Given the description of an element on the screen output the (x, y) to click on. 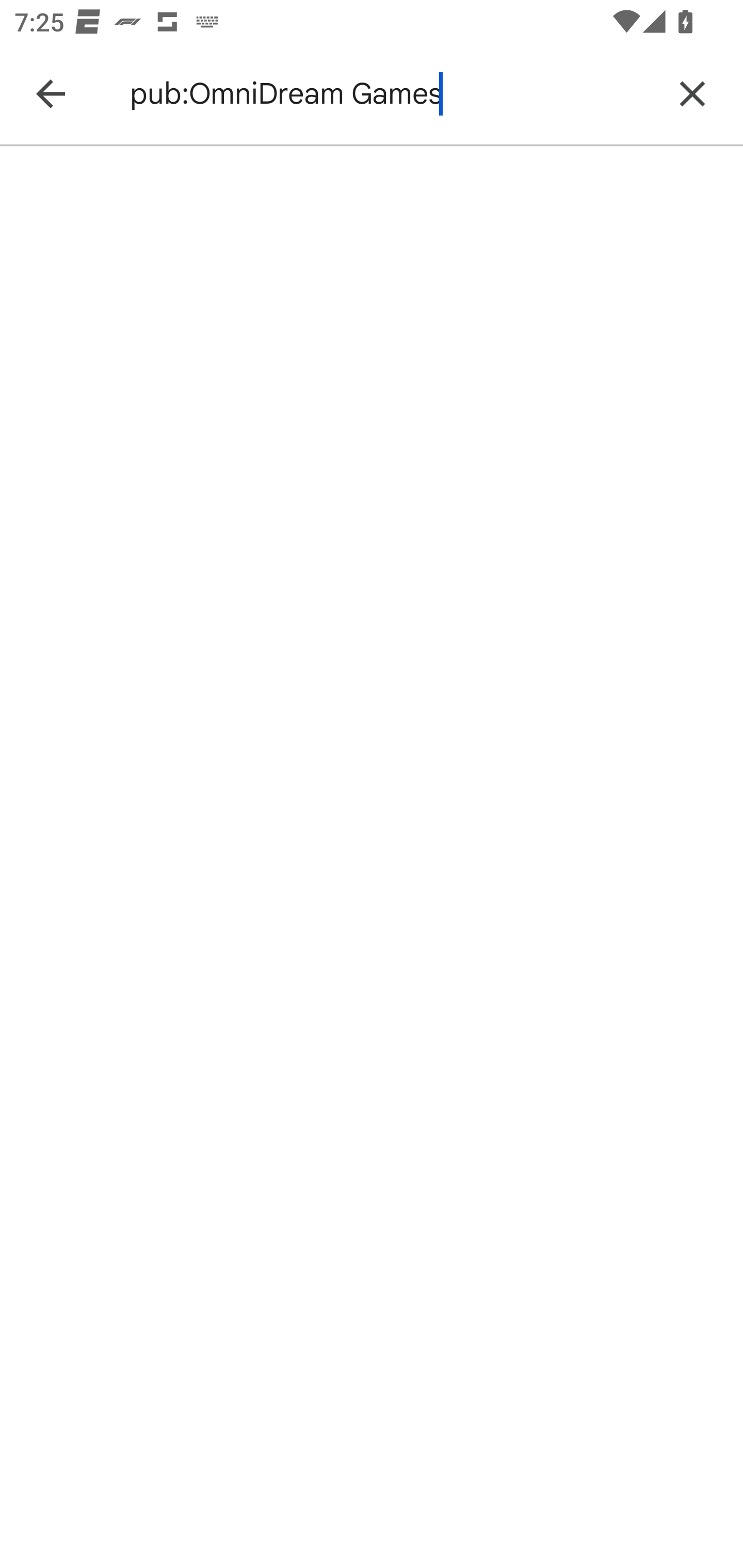
Navigate up (50, 93)
pub:OmniDream Games (389, 93)
Clear (692, 93)
